Given the description of an element on the screen output the (x, y) to click on. 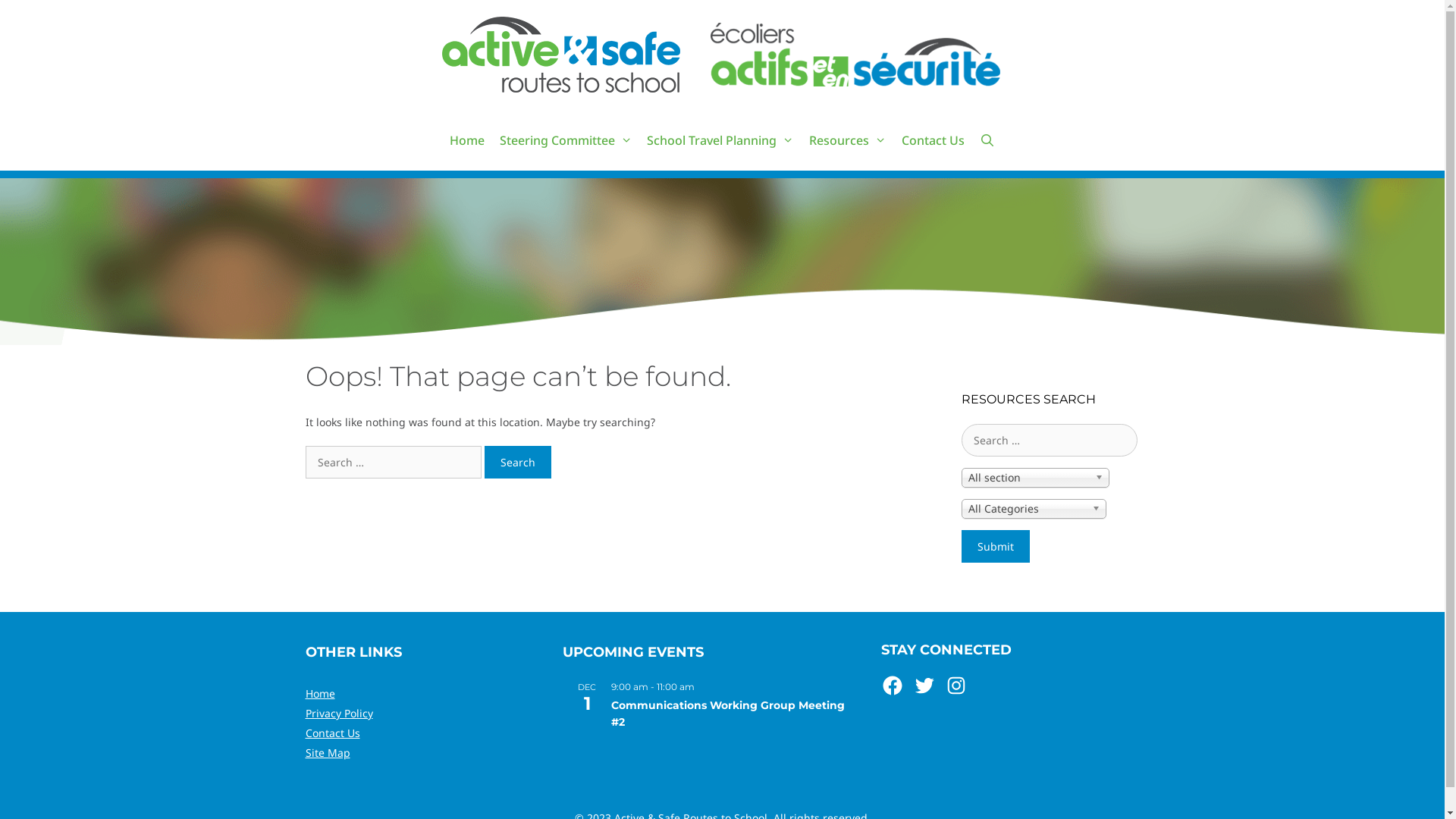
Communications Working Group Meeting #2 Element type: text (727, 714)
All Categories Element type: text (1033, 508)
Home Element type: text (467, 139)
All section Element type: text (1035, 477)
Facebook Element type: text (892, 685)
Twitter Element type: text (924, 685)
Search for: Element type: hover (392, 461)
Contact Us Element type: text (331, 732)
Contact Us Element type: text (933, 139)
Site Map Element type: text (326, 752)
Resources Element type: text (847, 139)
Submit Element type: text (995, 546)
Search Element type: text (516, 461)
Home Element type: text (319, 693)
Steering Committee Element type: text (566, 139)
Instagram Element type: text (955, 685)
Privacy Policy Element type: text (338, 713)
School Travel Planning Element type: text (720, 139)
